Given the description of an element on the screen output the (x, y) to click on. 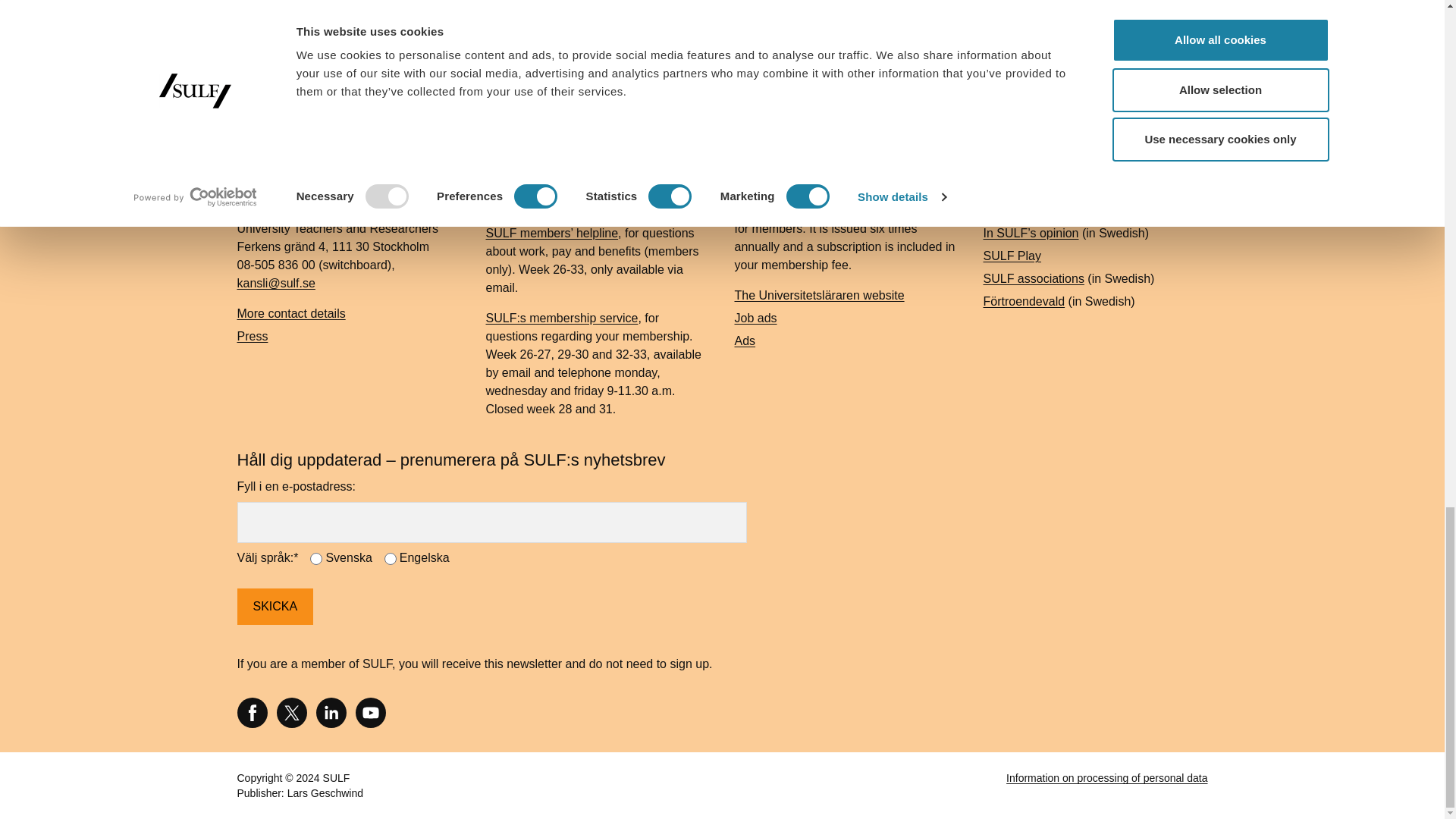
Skicka (274, 606)
Svenska (315, 558)
Engelska (390, 558)
